Given the description of an element on the screen output the (x, y) to click on. 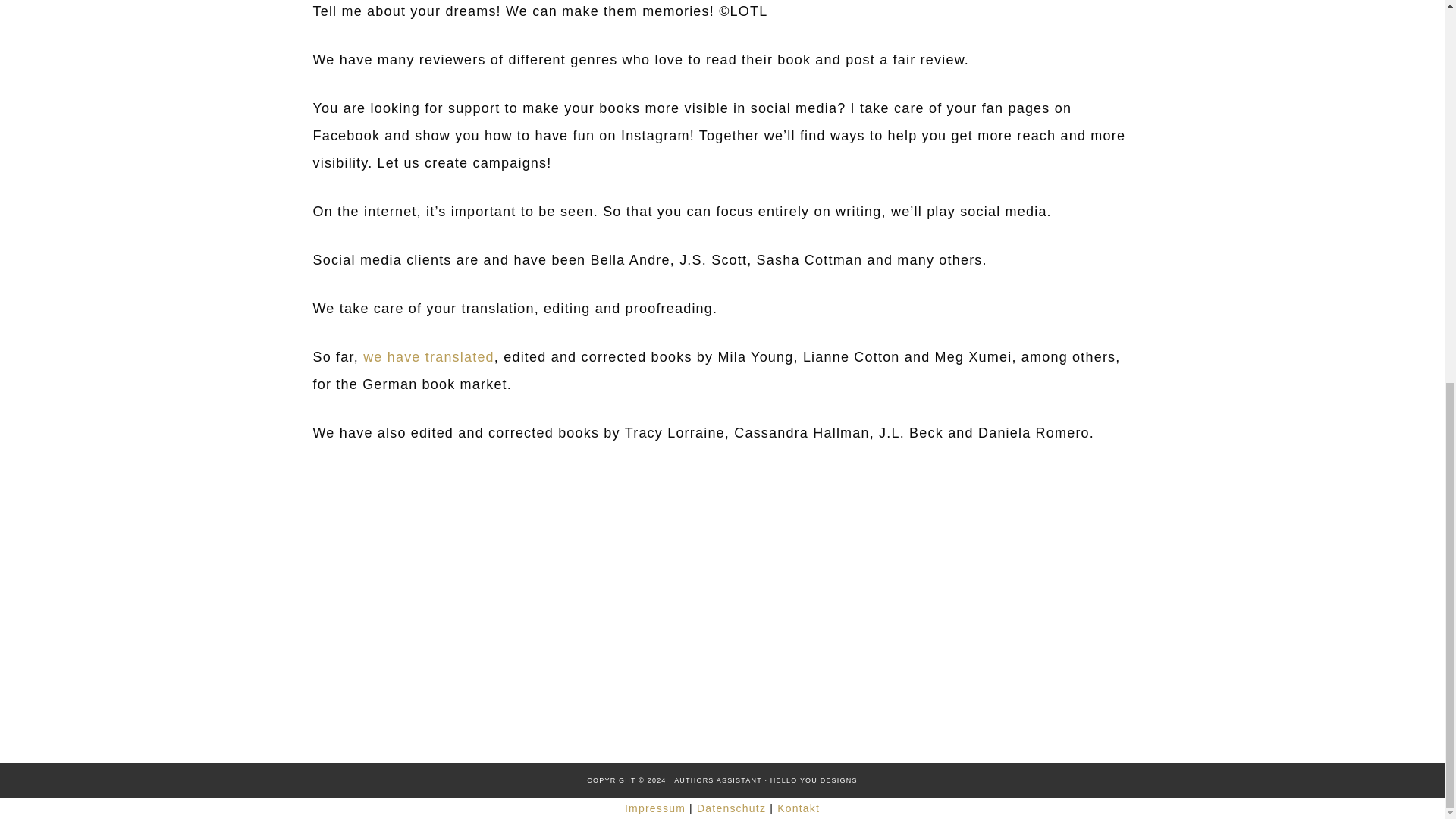
Kontakt (798, 808)
Impressum (654, 808)
Datenschutz (731, 808)
HELLO YOU DESIGNS (813, 779)
we have translated (428, 356)
